Given the description of an element on the screen output the (x, y) to click on. 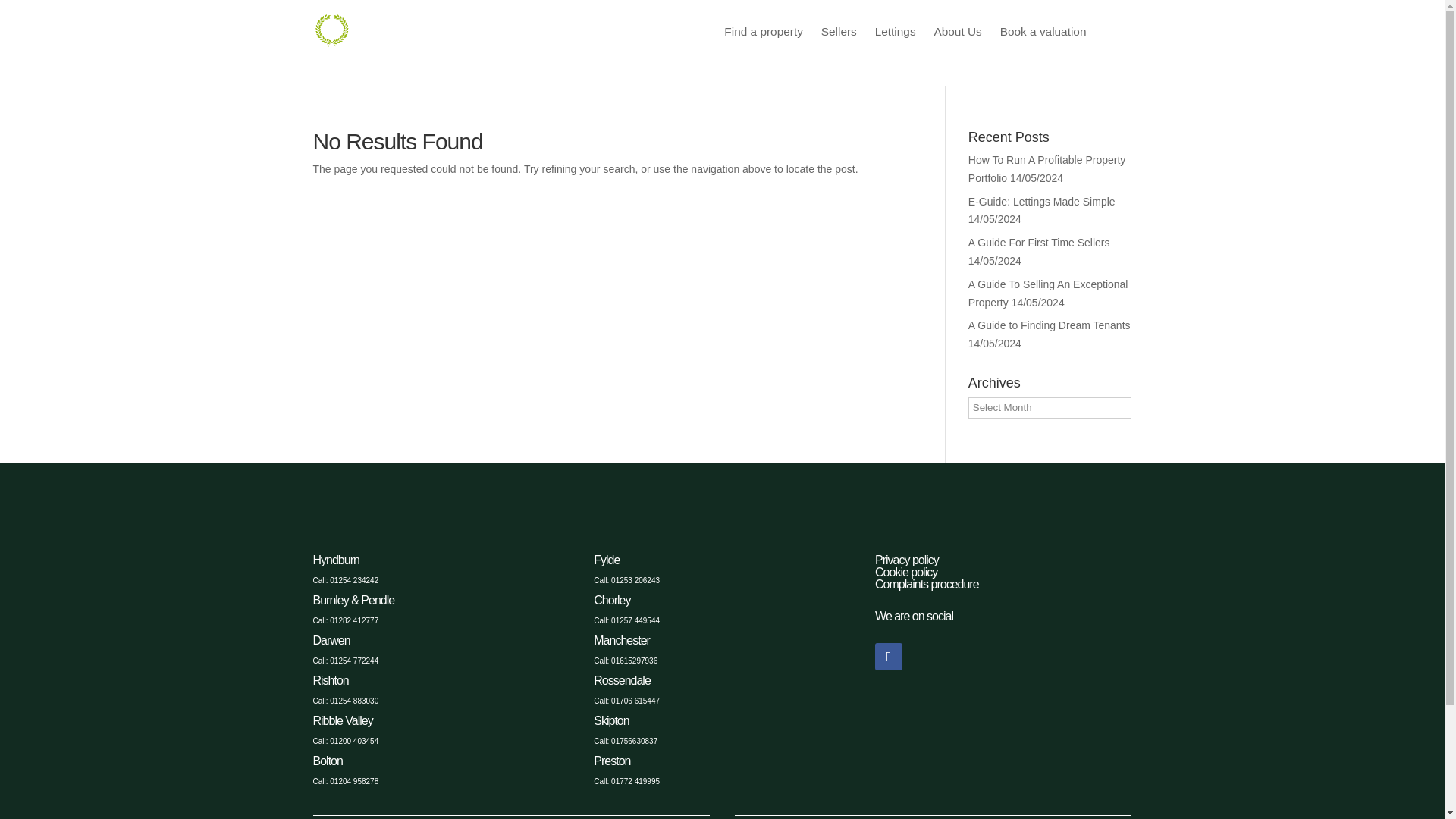
Cookie policy (906, 571)
Find a property (763, 30)
Sellers (838, 30)
A Guide To Selling An Exceptional Property (1048, 293)
A Guide For First Time Sellers (1038, 242)
Book a valuation (1043, 30)
Lettings (895, 30)
E-Guide: Lettings Made Simple (1041, 201)
About Us (957, 30)
Complaints procedure (926, 584)
How To Run A Profitable Property Portfolio (1046, 168)
A Guide to Finding Dream Tenants (1049, 325)
Follow on Facebook (888, 656)
Privacy policy (907, 559)
